Given the description of an element on the screen output the (x, y) to click on. 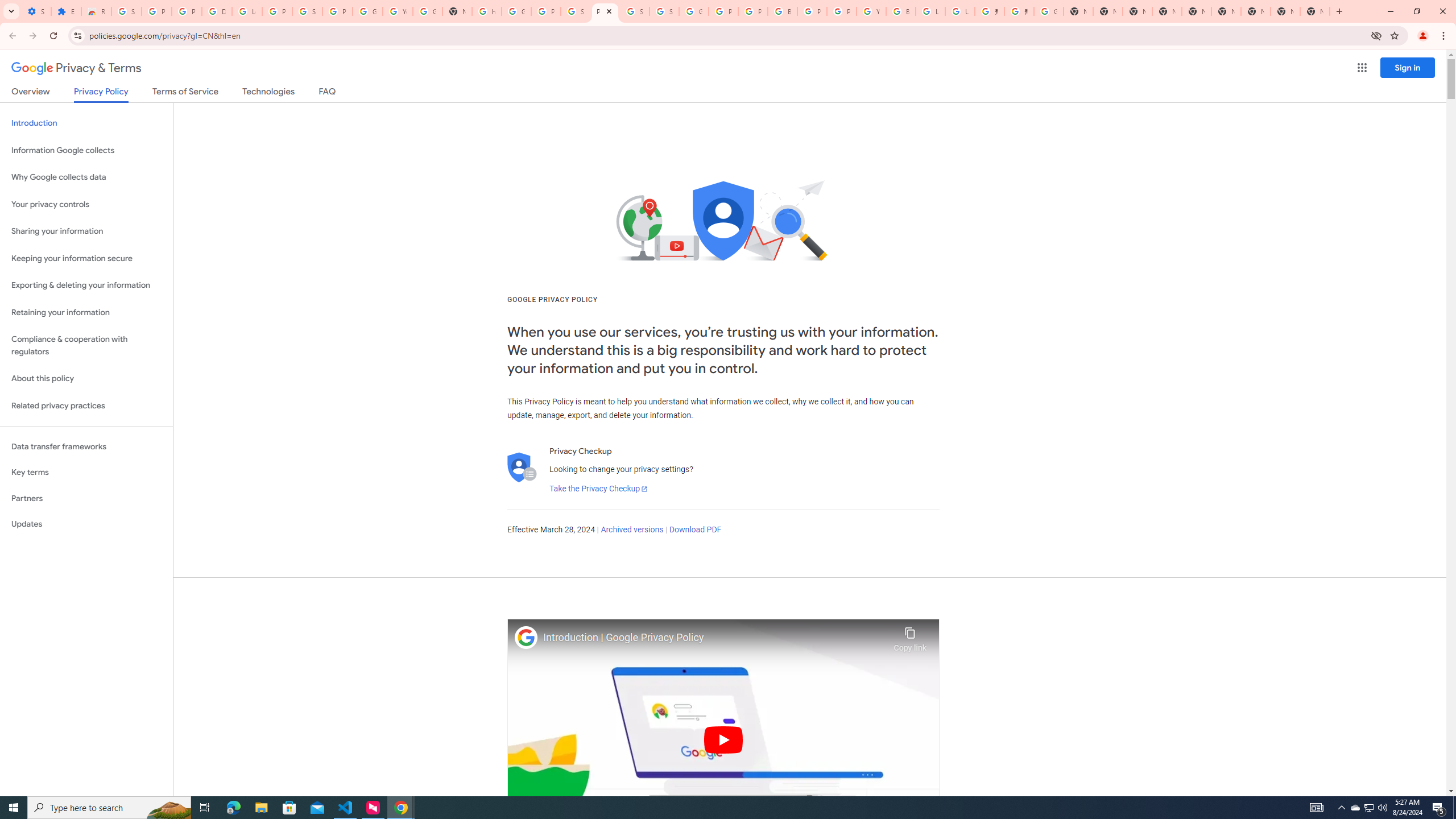
YouTube (871, 11)
Privacy Help Center - Policies Help (723, 11)
Related privacy practices (86, 405)
Copy link (909, 636)
Delete photos & videos - Computer - Google Photos Help (216, 11)
Play (723, 739)
